Given the description of an element on the screen output the (x, y) to click on. 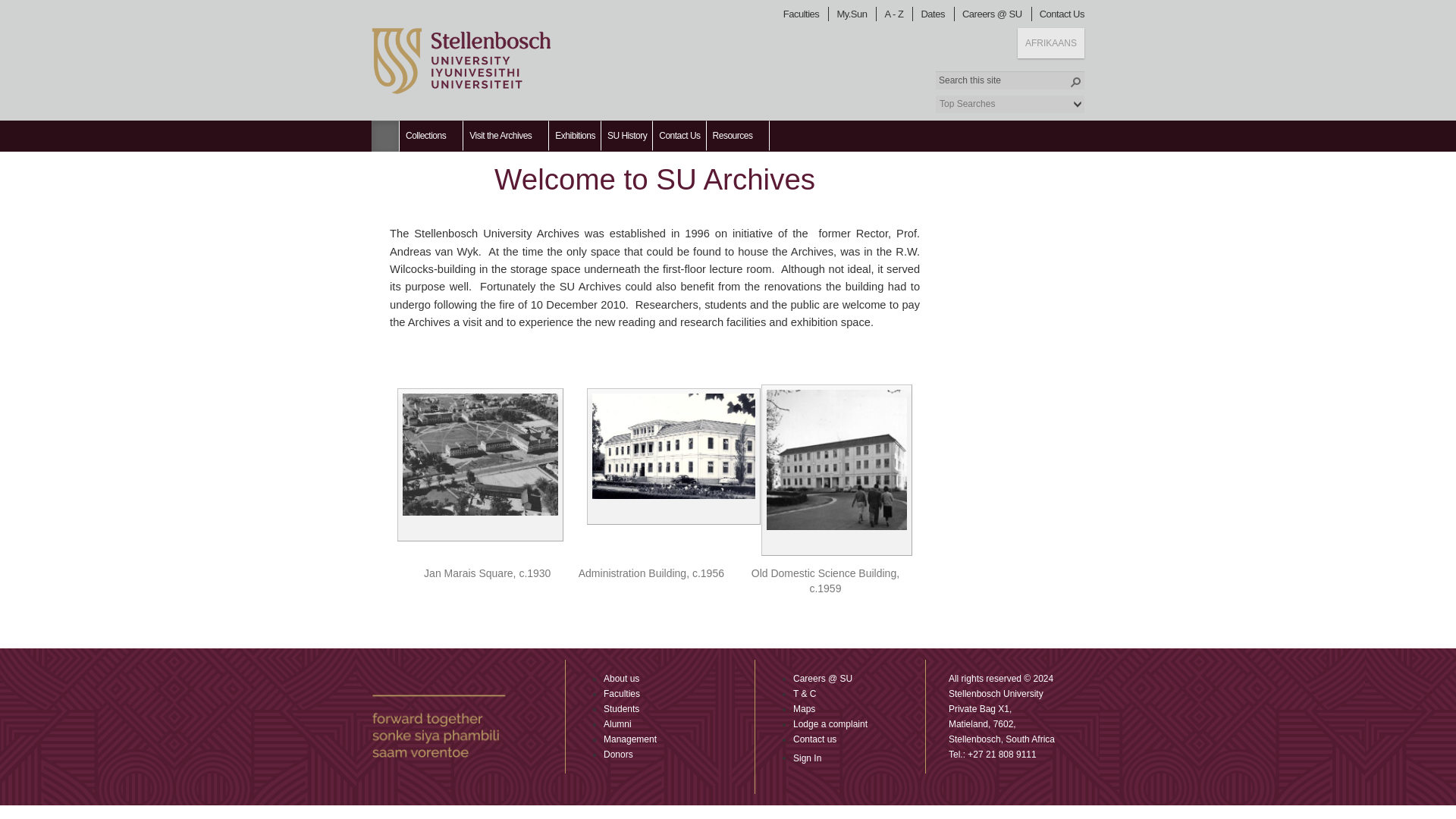
My.Sun (854, 13)
Exhibitions (574, 135)
Search (1075, 81)
Search this site (1010, 80)
Contact Us (1064, 13)
Search this site (1010, 80)
Visit the Archives (505, 135)
AFRIKAANS (1050, 42)
SU History (626, 135)
A - Z (897, 13)
Faculties (803, 13)
Resources (738, 135)
Contact Us (679, 135)
Collections (430, 135)
Dates (935, 13)
